Given the description of an element on the screen output the (x, y) to click on. 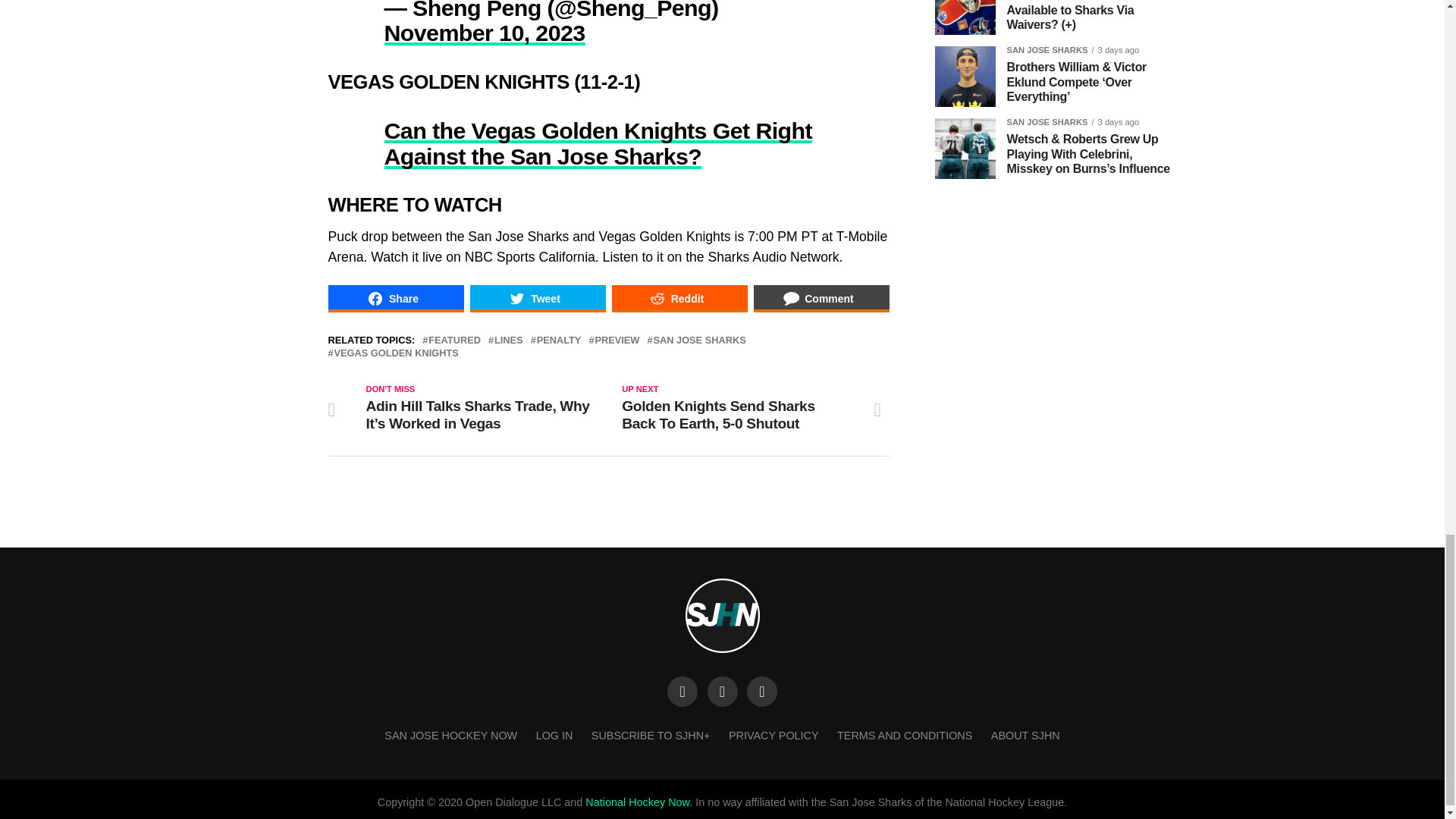
Share on Tweet (537, 298)
Share on Reddit (678, 298)
Share on Comment (821, 298)
Share on Share (395, 298)
